Given the description of an element on the screen output the (x, y) to click on. 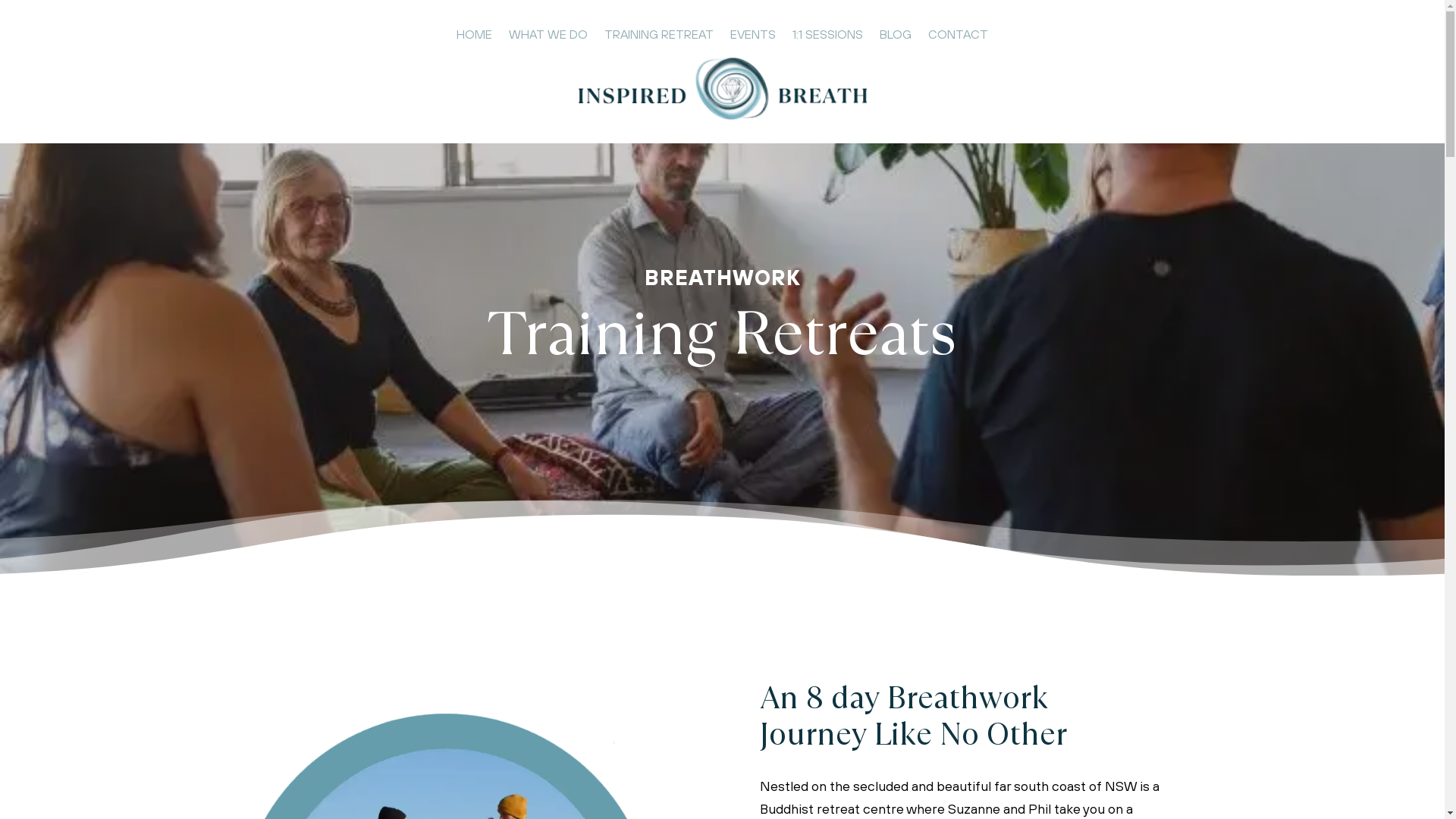
CONTACT Element type: text (958, 36)
WHAT WE DO Element type: text (547, 36)
inspiredbreath-logo Element type: hover (721, 88)
TRAINING RETREAT Element type: text (658, 36)
HOME Element type: text (474, 36)
EVENTS Element type: text (752, 36)
1:1 SESSIONS Element type: text (827, 36)
BLOG Element type: text (895, 36)
